Given the description of an element on the screen output the (x, y) to click on. 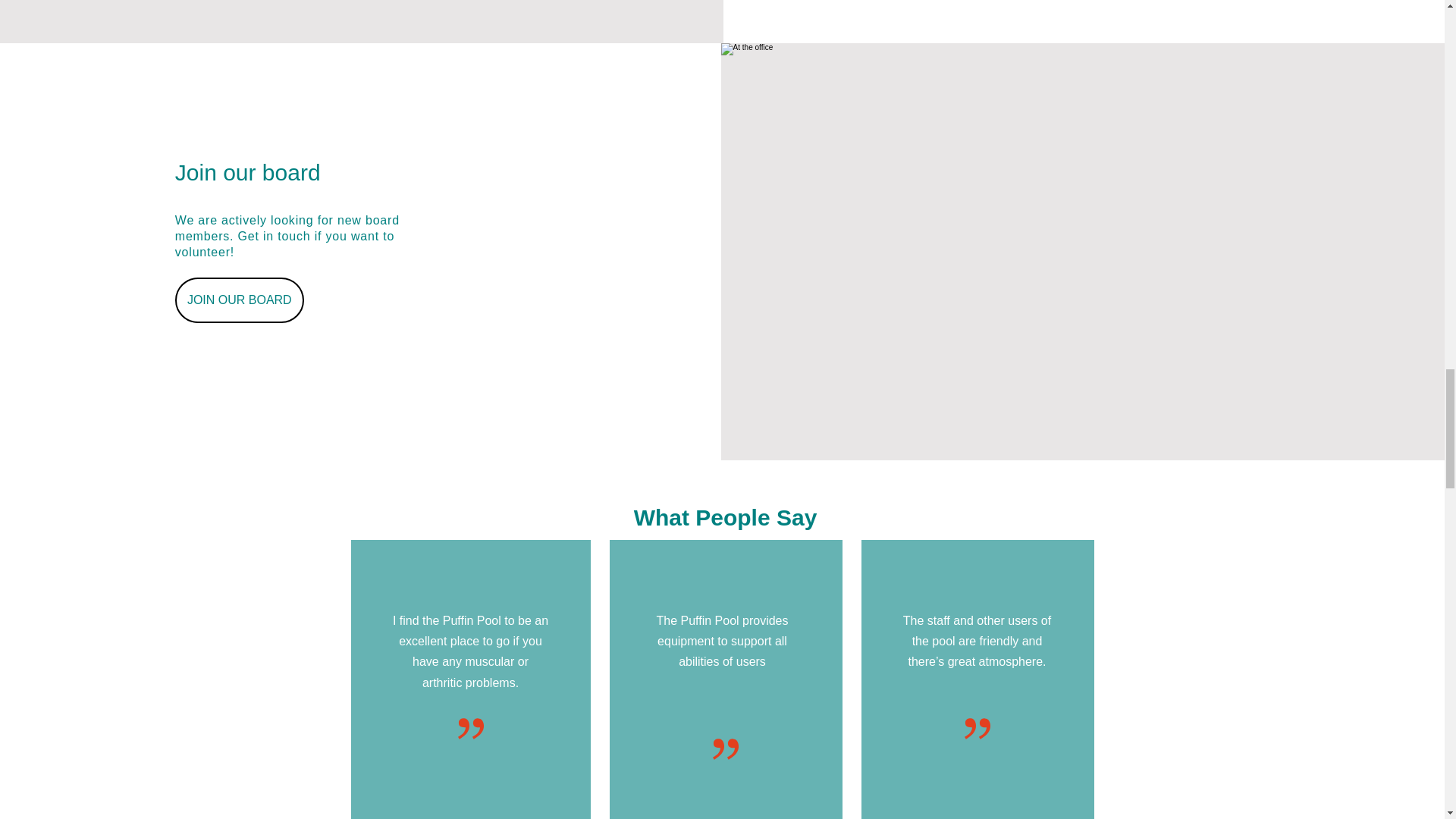
JOIN OUR BOARD (239, 299)
What People Say (724, 517)
